Given the description of an element on the screen output the (x, y) to click on. 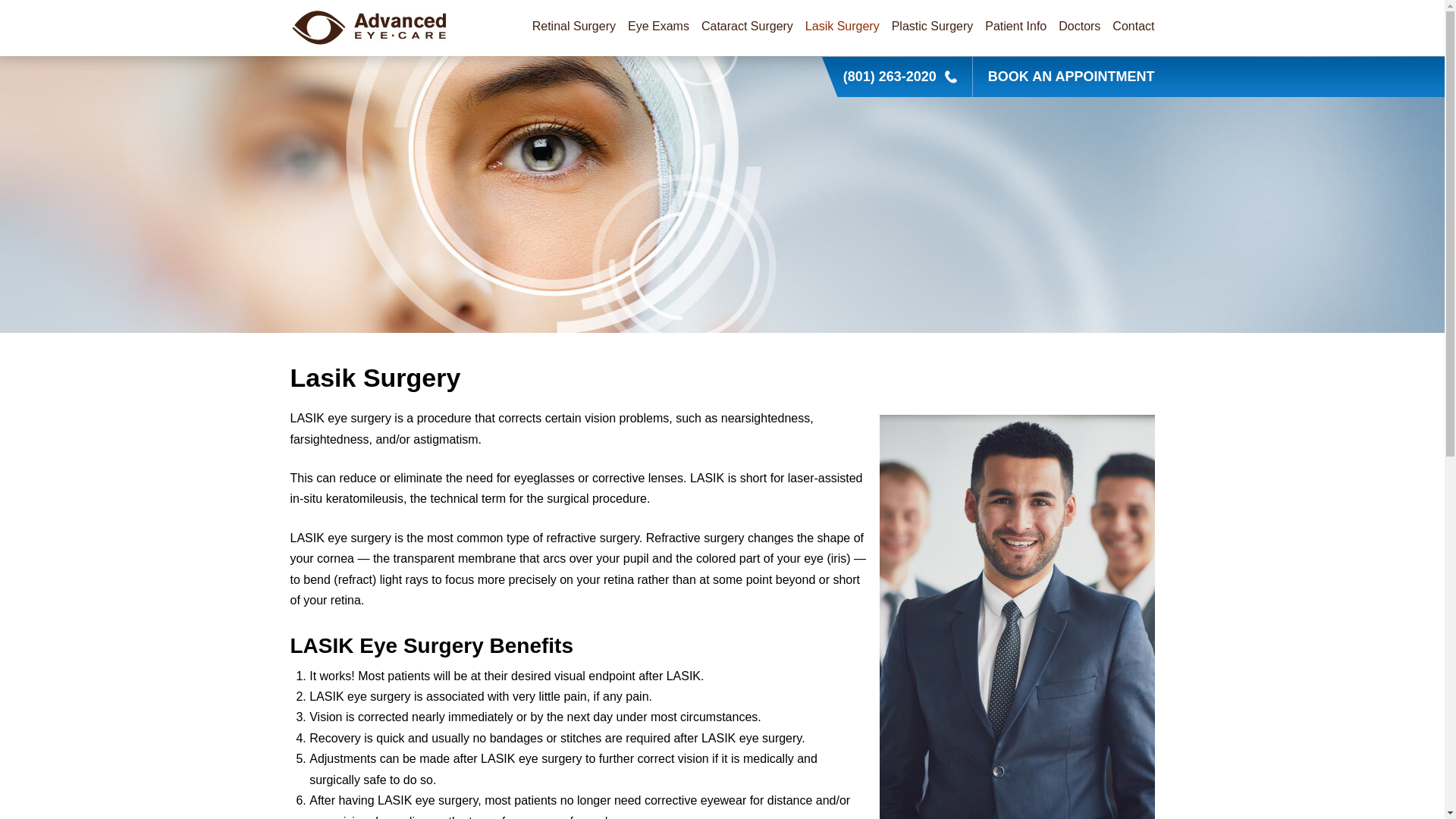
Cataract Surgery (747, 26)
Eye Exams (657, 26)
Retinal Surgery (573, 26)
Plastic Surgery (932, 26)
Patient Forms (1076, 67)
Patient Info (1015, 26)
BOOK AN APPOINTMENT (1071, 76)
IntraLase (896, 67)
Lasik Surgery (842, 26)
